Given the description of an element on the screen output the (x, y) to click on. 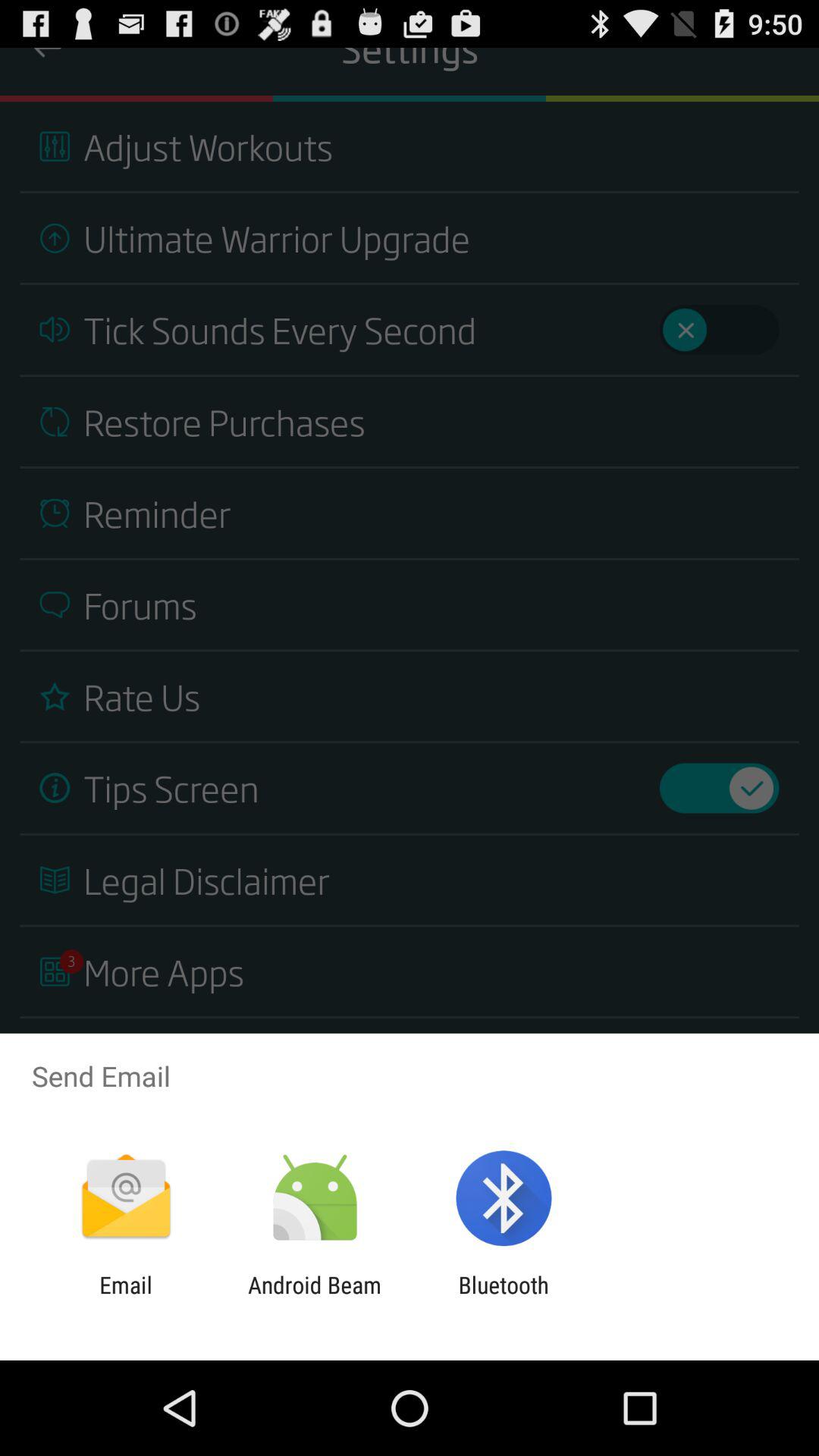
tap the item next to android beam icon (503, 1298)
